Given the description of an element on the screen output the (x, y) to click on. 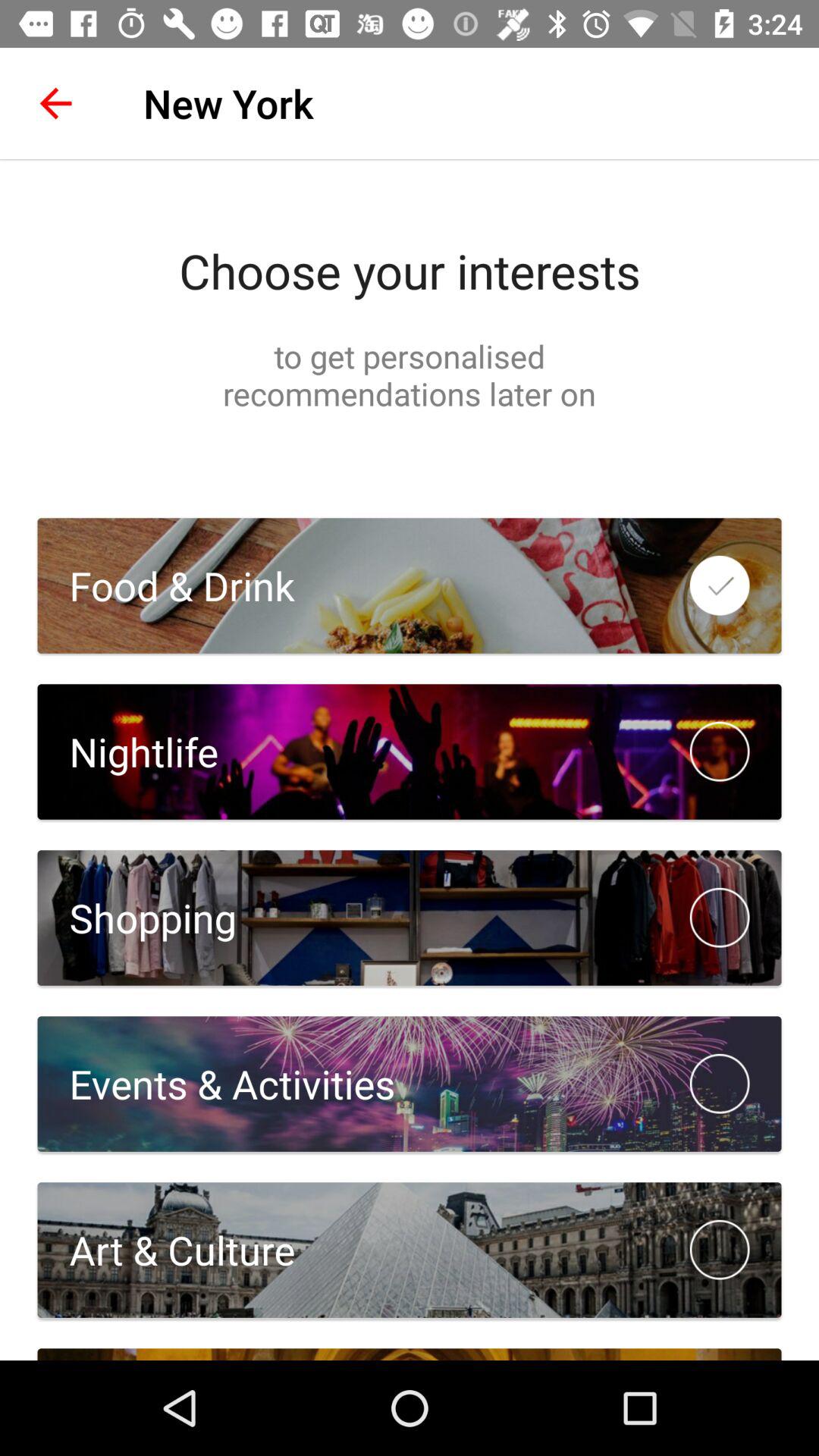
choose the choose your interests item (409, 270)
